Given the description of an element on the screen output the (x, y) to click on. 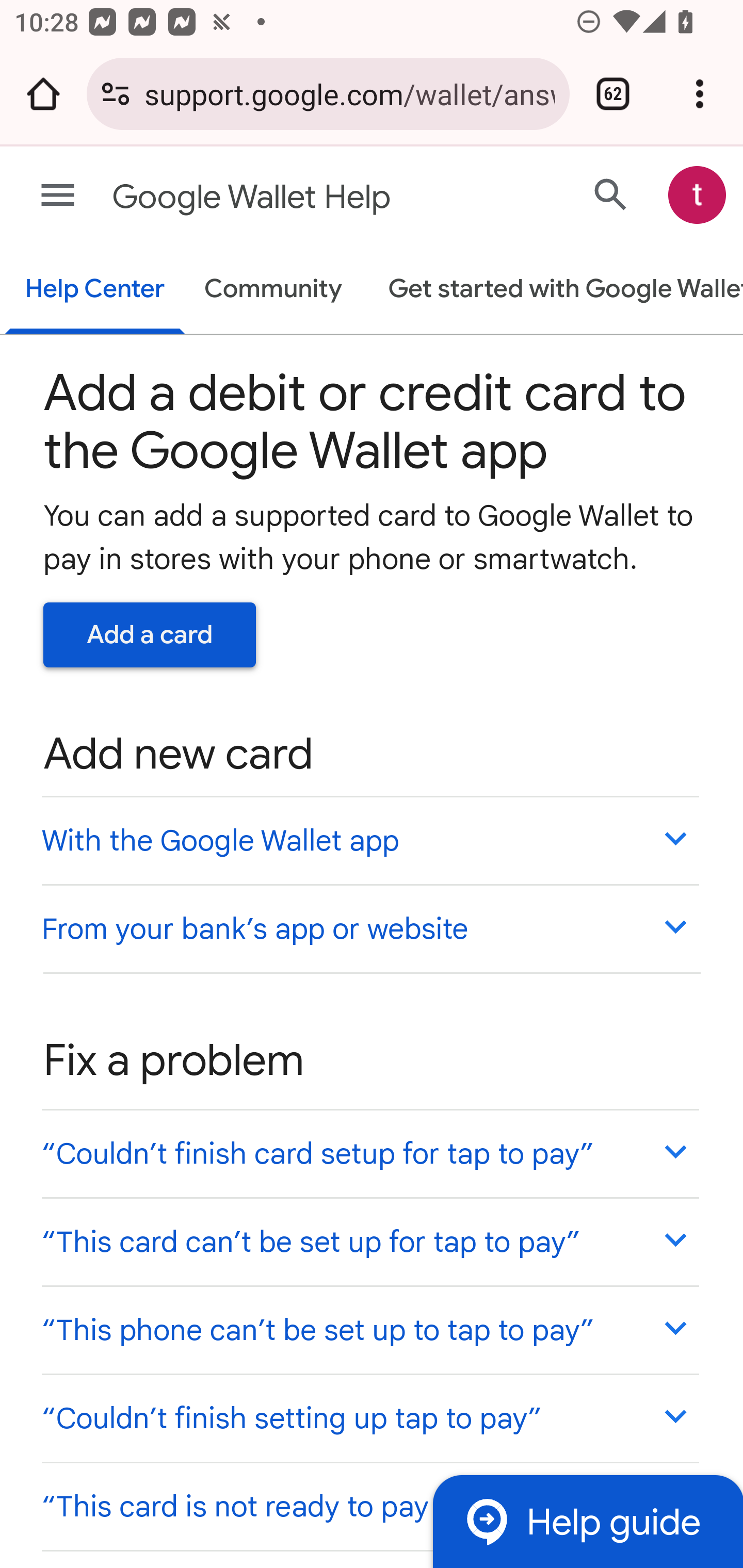
Open the home page (43, 93)
Connection is secure (115, 93)
Switch or close tabs (612, 93)
Customize and control Google Chrome (699, 93)
Main menu (58, 195)
Google Wallet Help (292, 197)
Search Help Center (611, 194)
Help Center (94, 289)
Community (273, 289)
Get started with Google Wallet (555, 289)
Add a card (149, 633)
With the Google Wallet app (369, 839)
From your bank’s app or website (369, 927)
“Couldn’t finish card setup for tap to pay” (369, 1152)
“This card can’t be set up for tap to pay” (369, 1240)
“This phone can’t be set up to tap to pay” (369, 1329)
“Couldn’t finish setting up tap to pay” (369, 1417)
“This card is not ready to pay online” (369, 1504)
Help guide (587, 1520)
